Given the description of an element on the screen output the (x, y) to click on. 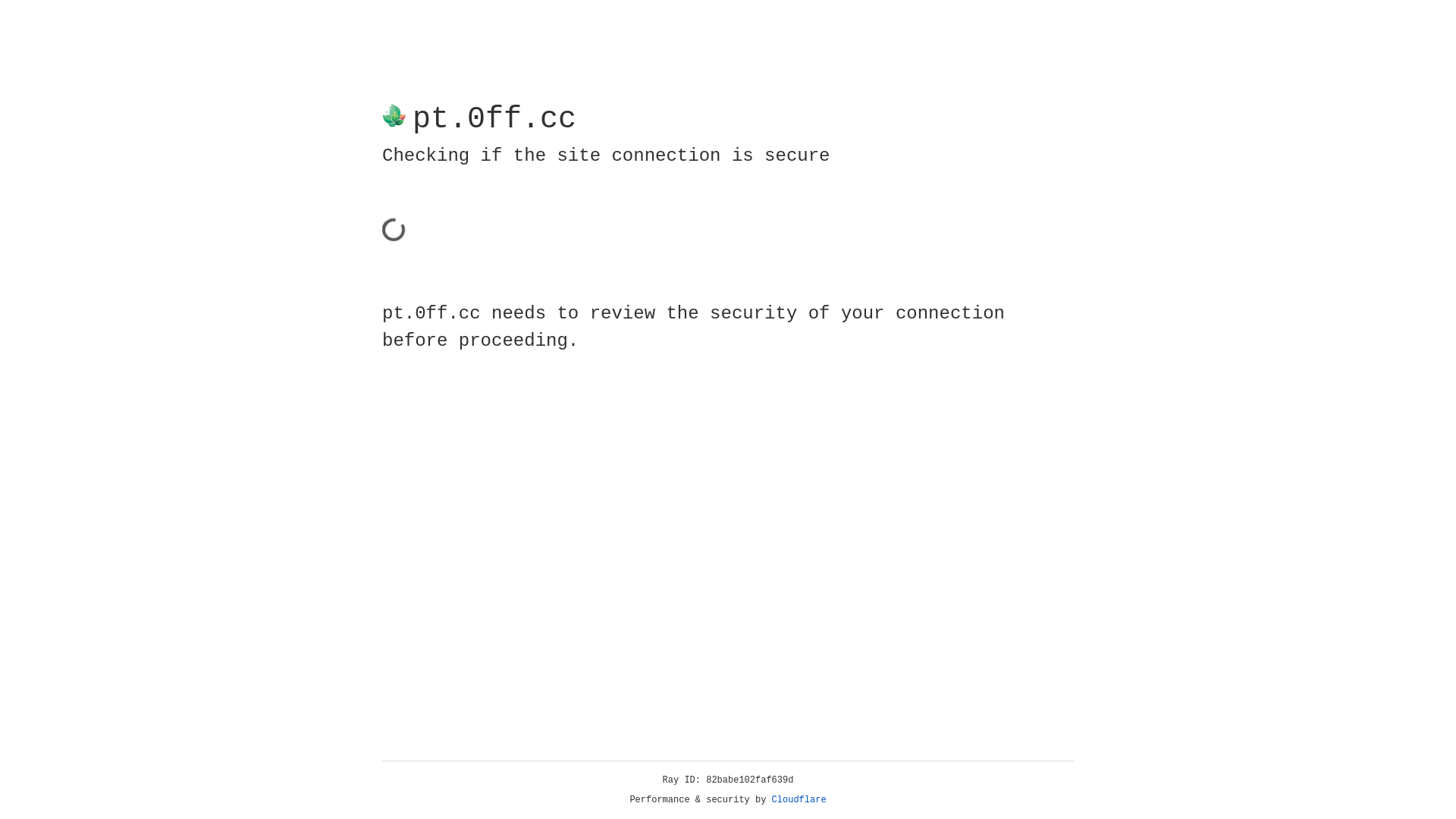
Cloudflare Element type: text (798, 799)
